Given the description of an element on the screen output the (x, y) to click on. 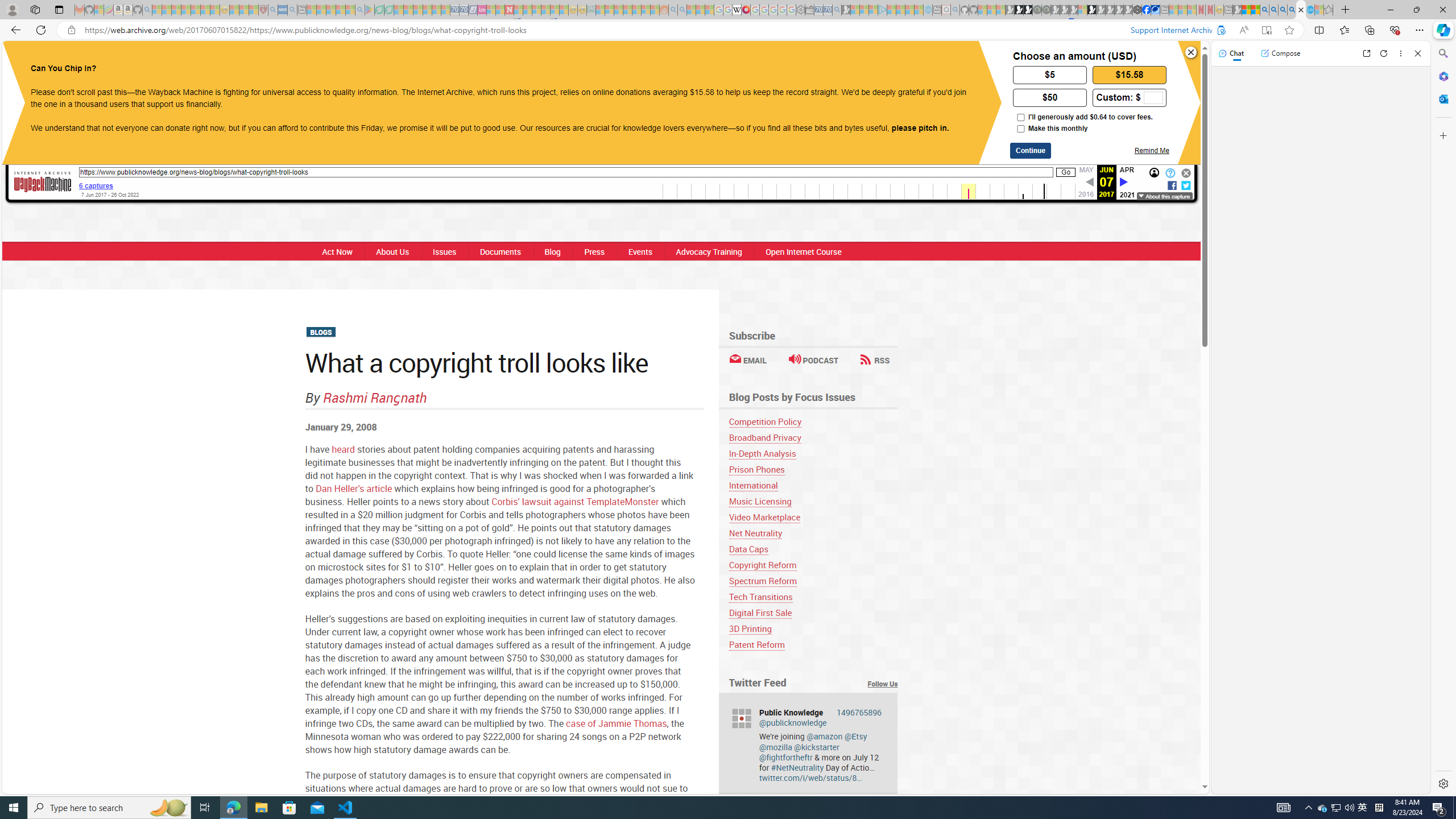
Local - MSN - Sleeping (253, 9)
TWITTER (692, 60)
case of Jammie Thomas (616, 722)
3D Printing (749, 628)
Events (639, 251)
@Etsy (855, 736)
DONATE (828, 60)
